Given the description of an element on the screen output the (x, y) to click on. 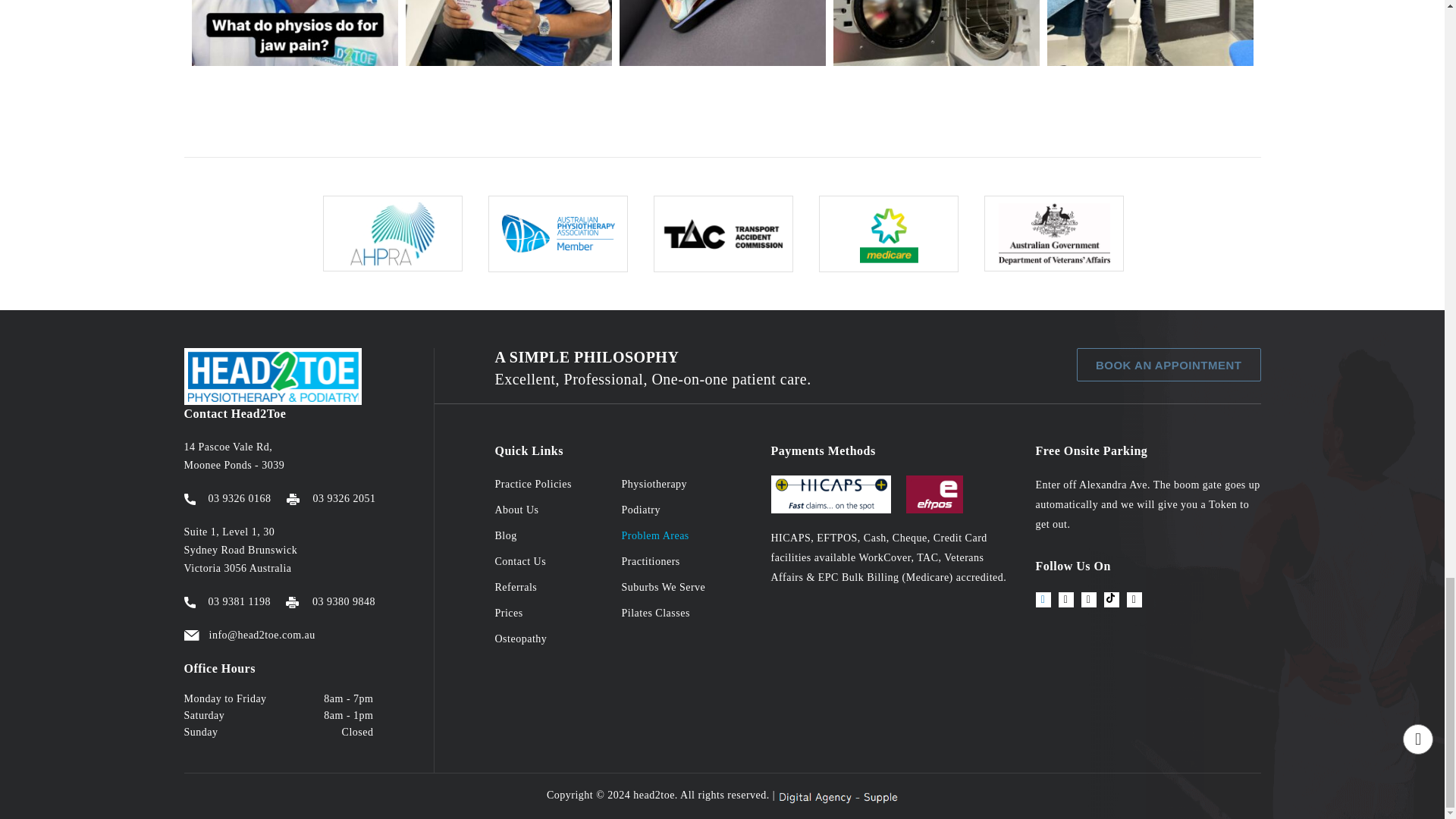
BOOK AN APPOINTMENT (1168, 364)
